Given the description of an element on the screen output the (x, y) to click on. 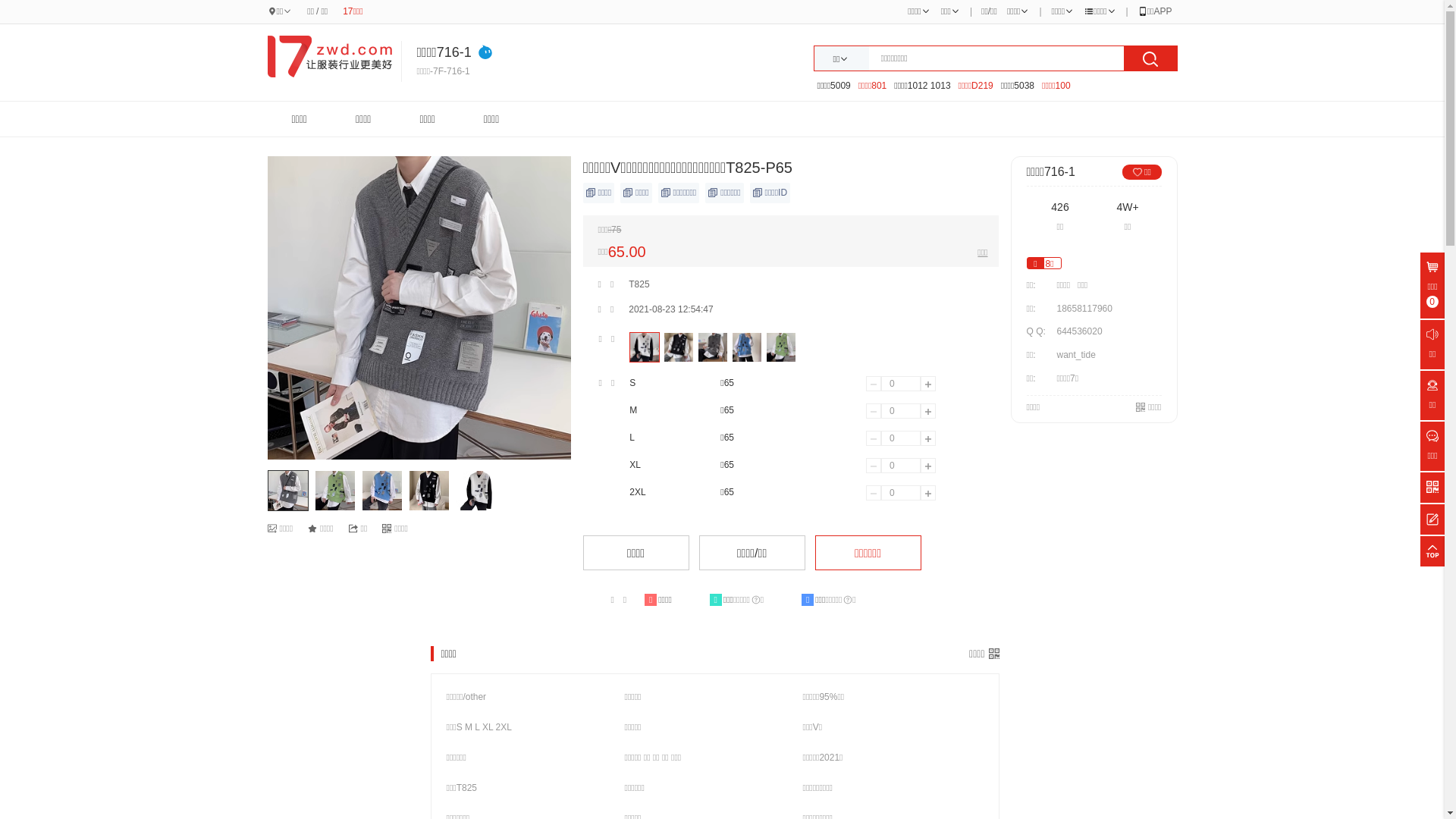
want_tide Element type: text (1075, 354)
644536020 Element type: text (1078, 331)
18658117960 Element type: text (1083, 308)
